Given the description of an element on the screen output the (x, y) to click on. 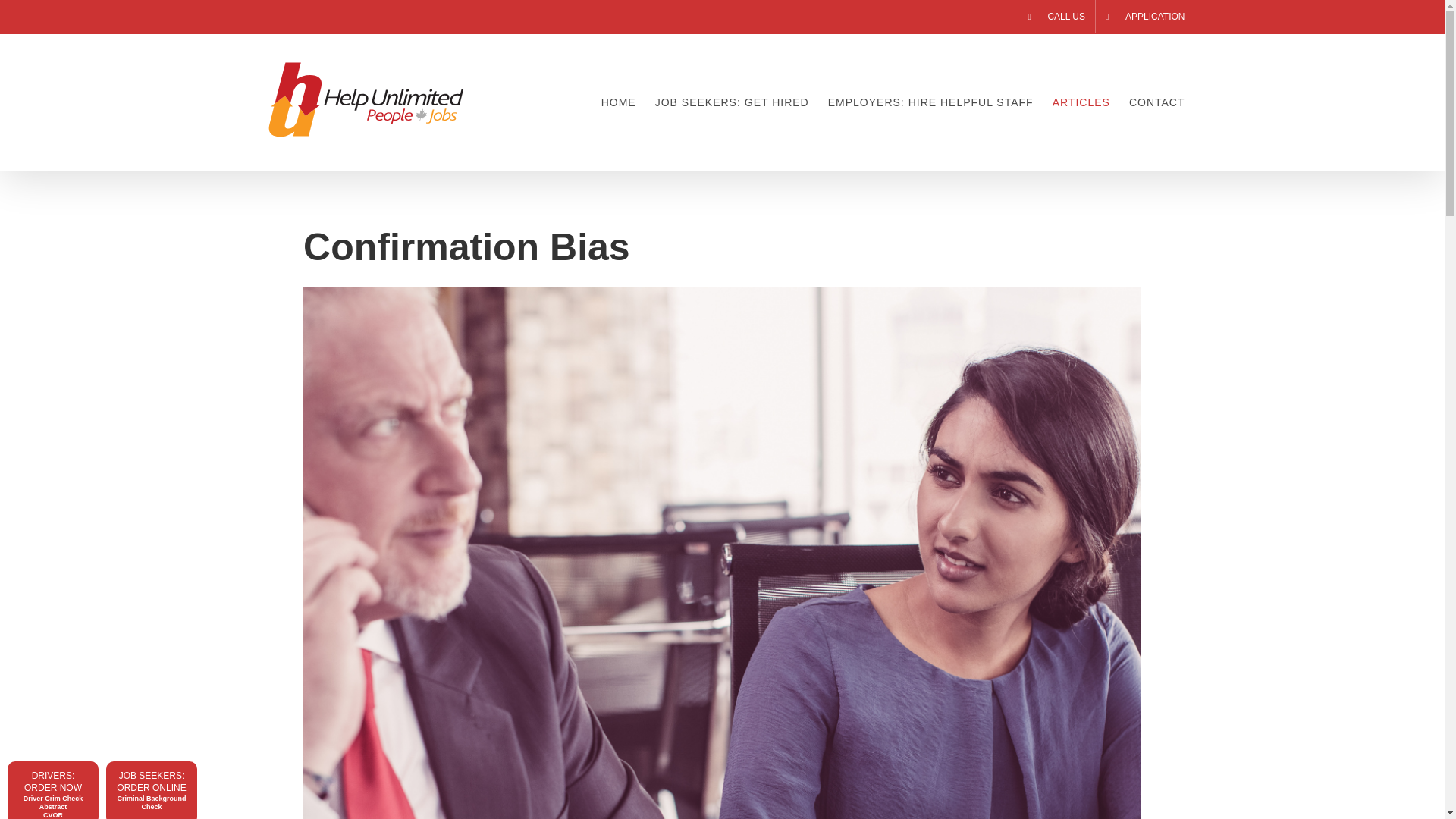
EMPLOYERS: HIRE HELPFUL STAFF (930, 102)
JOB SEEKERS: GET HIRED (732, 102)
CALL US (1055, 16)
APPLICATION (1140, 16)
